Given the description of an element on the screen output the (x, y) to click on. 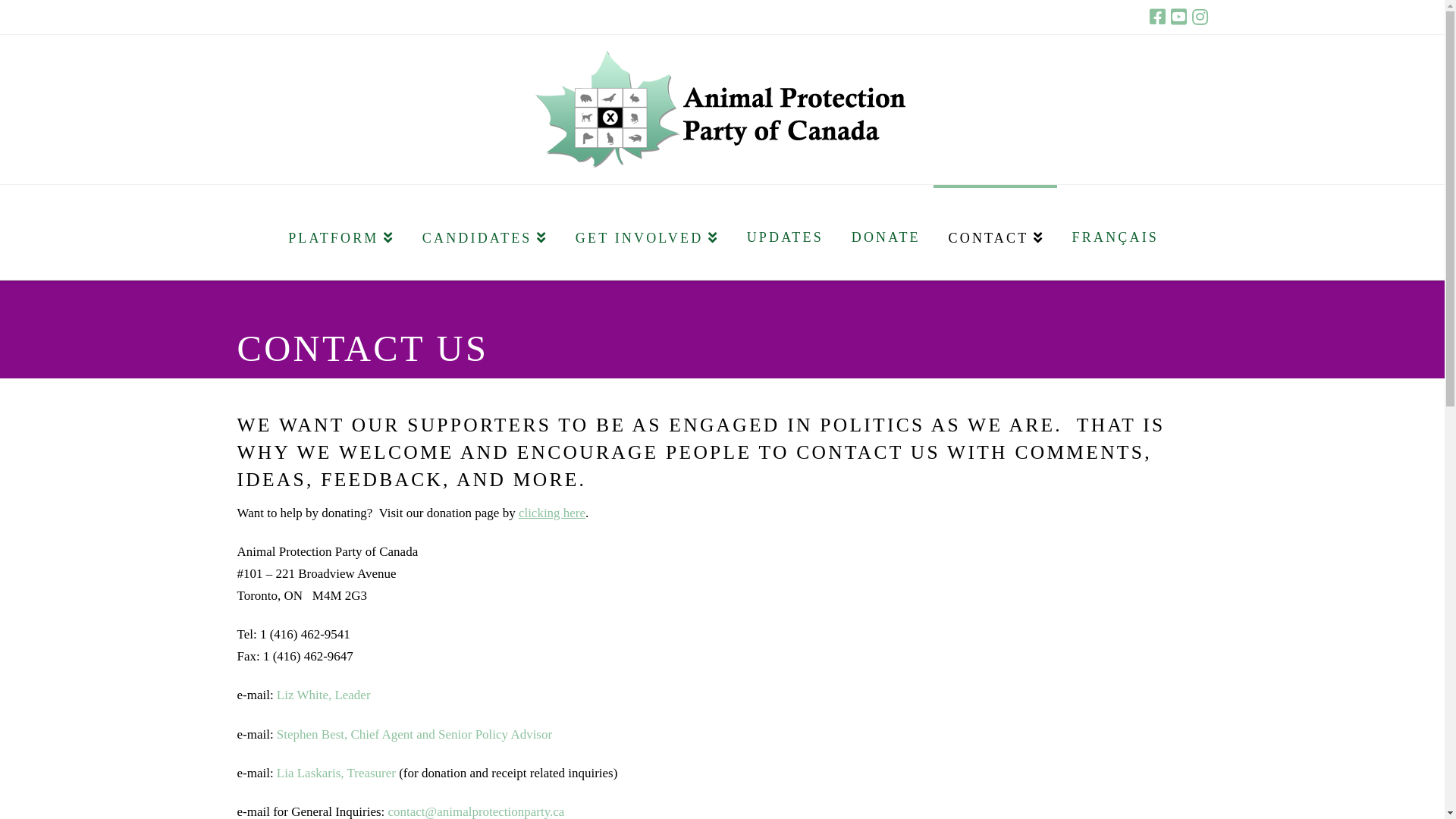
DONATE Element type: text (884, 232)
Facebook Element type: hover (1157, 16)
CONTACT Element type: text (995, 232)
YouTube Element type: hover (1178, 16)
PLATFORM Element type: text (340, 232)
GET INVOLVED Element type: text (645, 232)
UPDATES Element type: text (783, 232)
Liz White, Leader Element type: text (323, 694)
clicking here Element type: text (551, 512)
Lia Laskaris, Treasurer Element type: text (335, 772)
Stephen Best, Chief Agent and Senior Policy Advisor Element type: text (414, 734)
CANDIDATES Element type: text (483, 232)
Instagram Element type: hover (1200, 16)
